Given the description of an element on the screen output the (x, y) to click on. 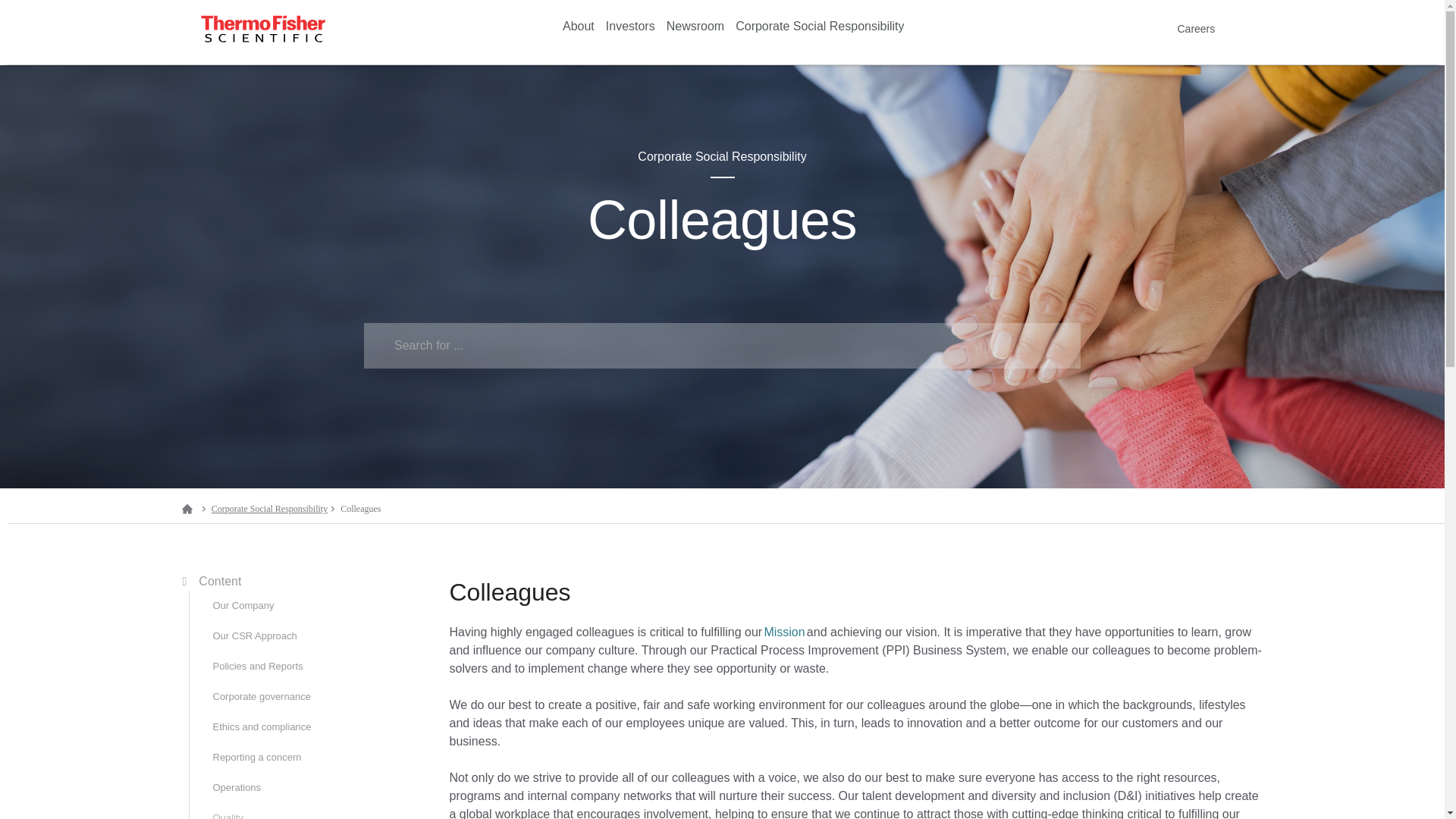
Quality (313, 811)
Investors (630, 26)
Operations (313, 788)
Policies and Reports (313, 666)
Corporate Social Responsibility (819, 26)
Corporate Social Responsibility (819, 26)
Corporate governance (313, 696)
Investors (630, 26)
Content (214, 581)
Newsroom (694, 26)
